Given the description of an element on the screen output the (x, y) to click on. 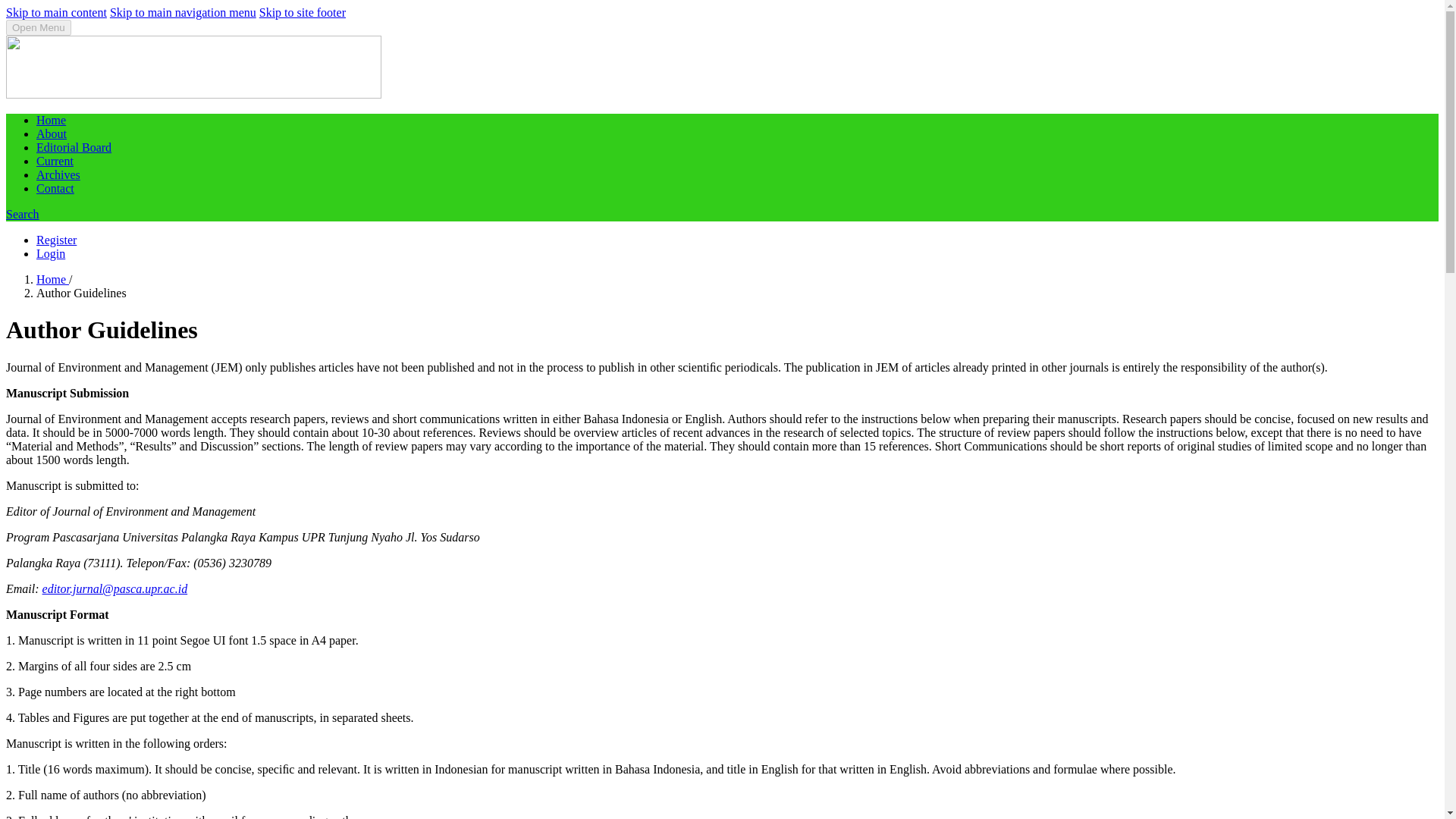
Open Menu (38, 27)
Skip to site footer (302, 11)
Current (55, 160)
Login (50, 253)
Home (52, 278)
Home (50, 119)
Search (22, 214)
About (51, 133)
Contact (55, 187)
Register (56, 239)
